Given the description of an element on the screen output the (x, y) to click on. 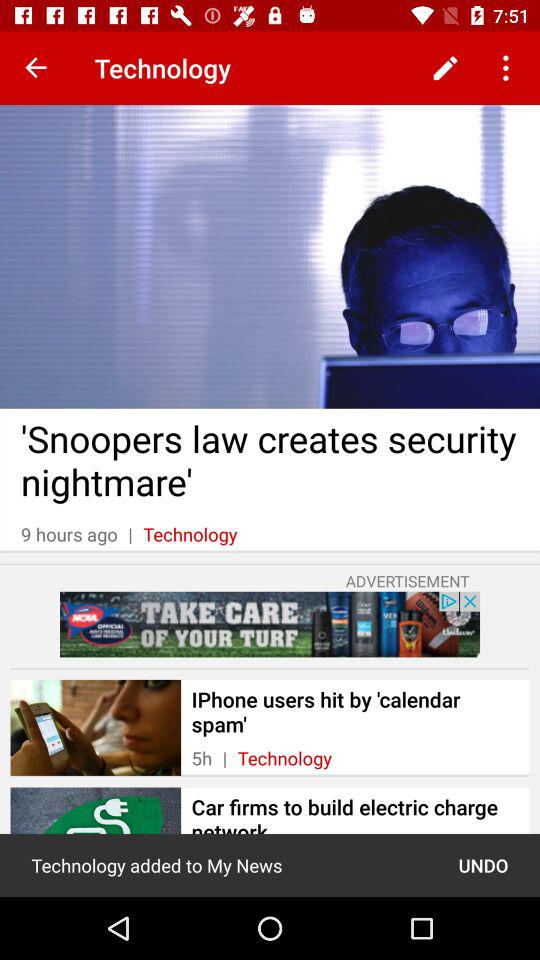
advertise box (270, 624)
